Given the description of an element on the screen output the (x, y) to click on. 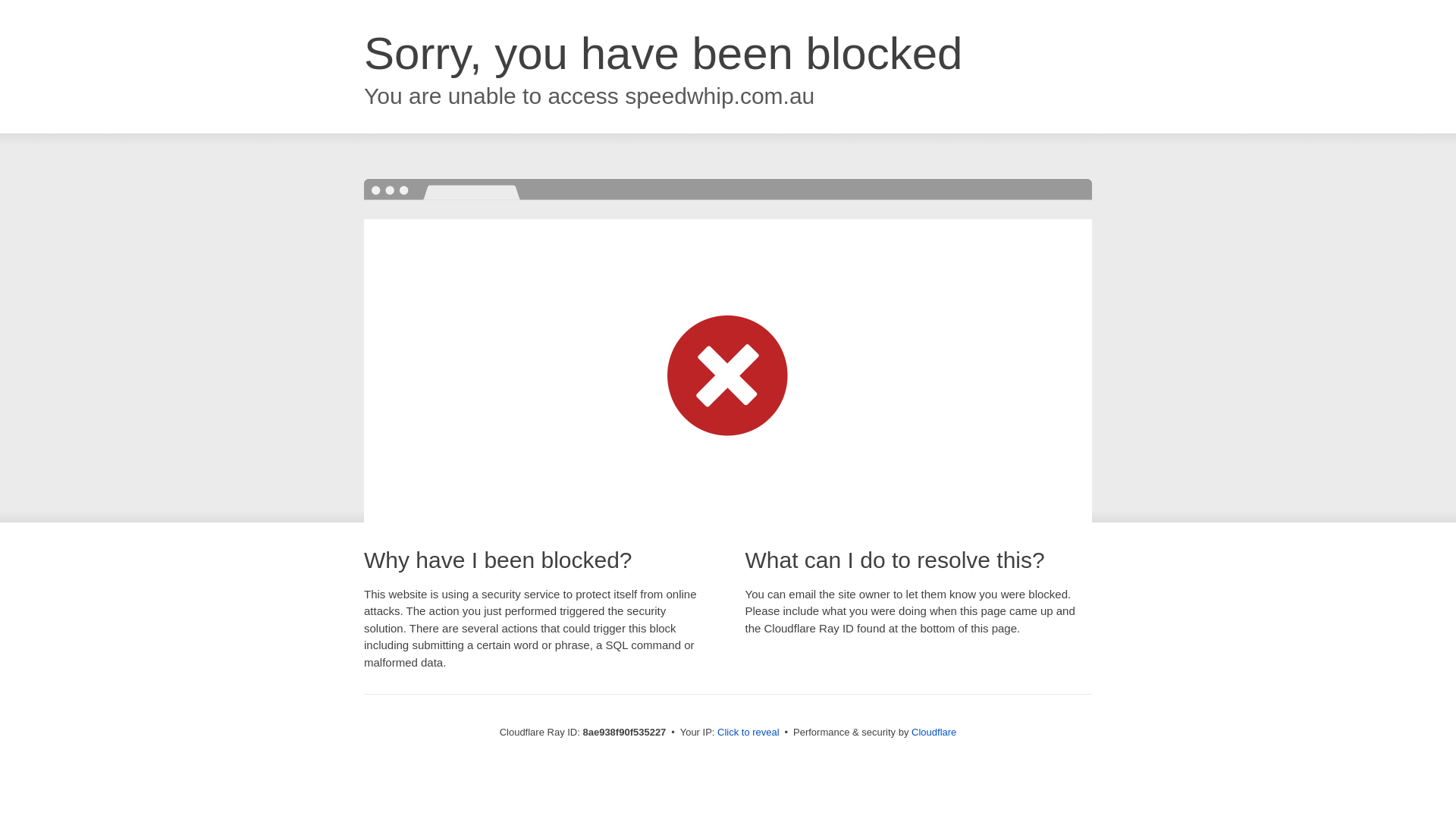
Click to reveal (747, 732)
Cloudflare (933, 731)
